Given the description of an element on the screen output the (x, y) to click on. 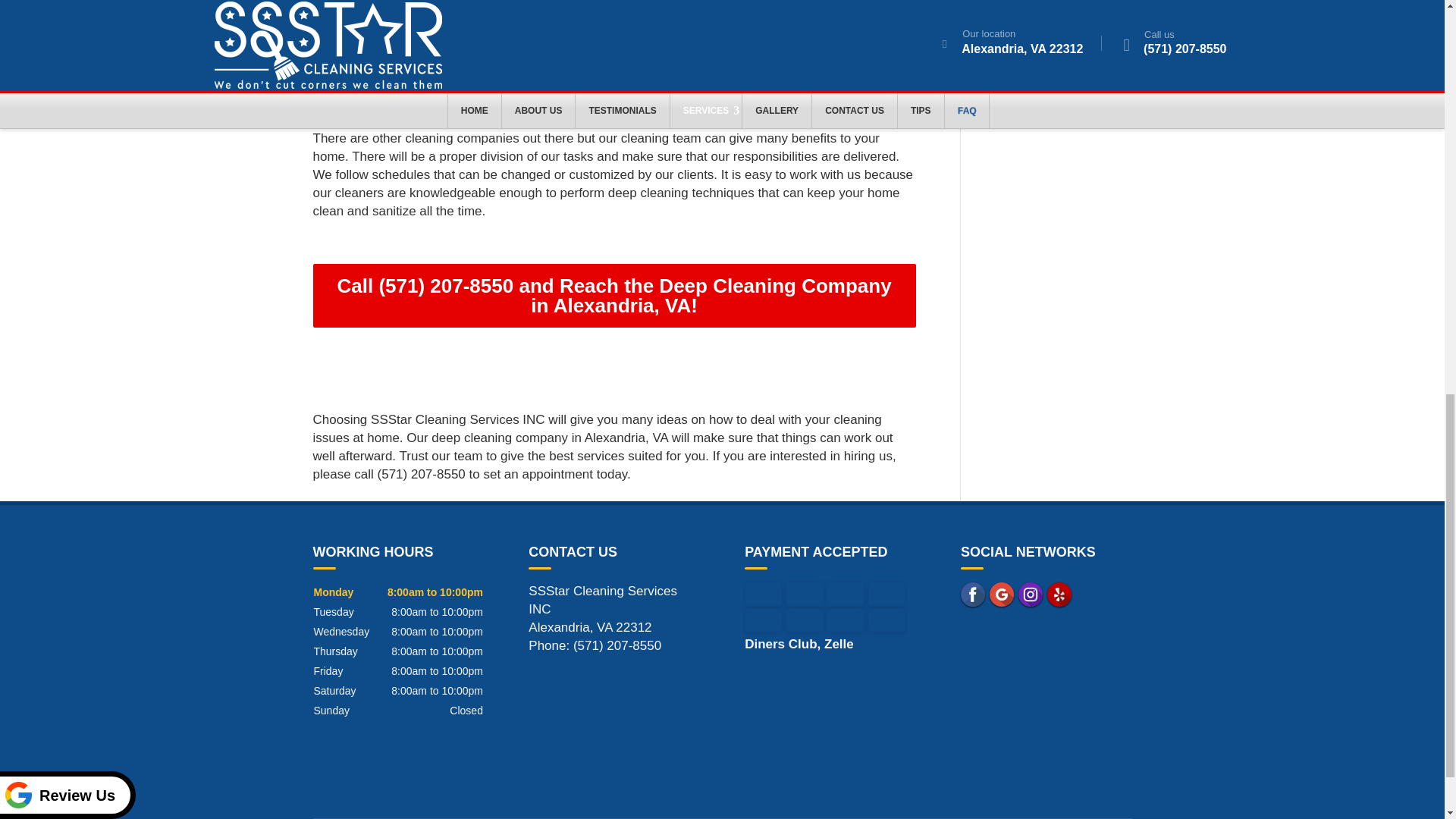
check payment accepted (845, 619)
visa payment accepted (763, 594)
cash payment accepted (804, 619)
Check company profile on yelp-social (1058, 594)
Check company profile on facebook (972, 594)
paypal payment accepted (763, 619)
cashApp payment accepted (885, 619)
Check company profile on instagram (1029, 594)
discover payment accepted (885, 594)
americanexpress payment accepted (845, 594)
